Given the description of an element on the screen output the (x, y) to click on. 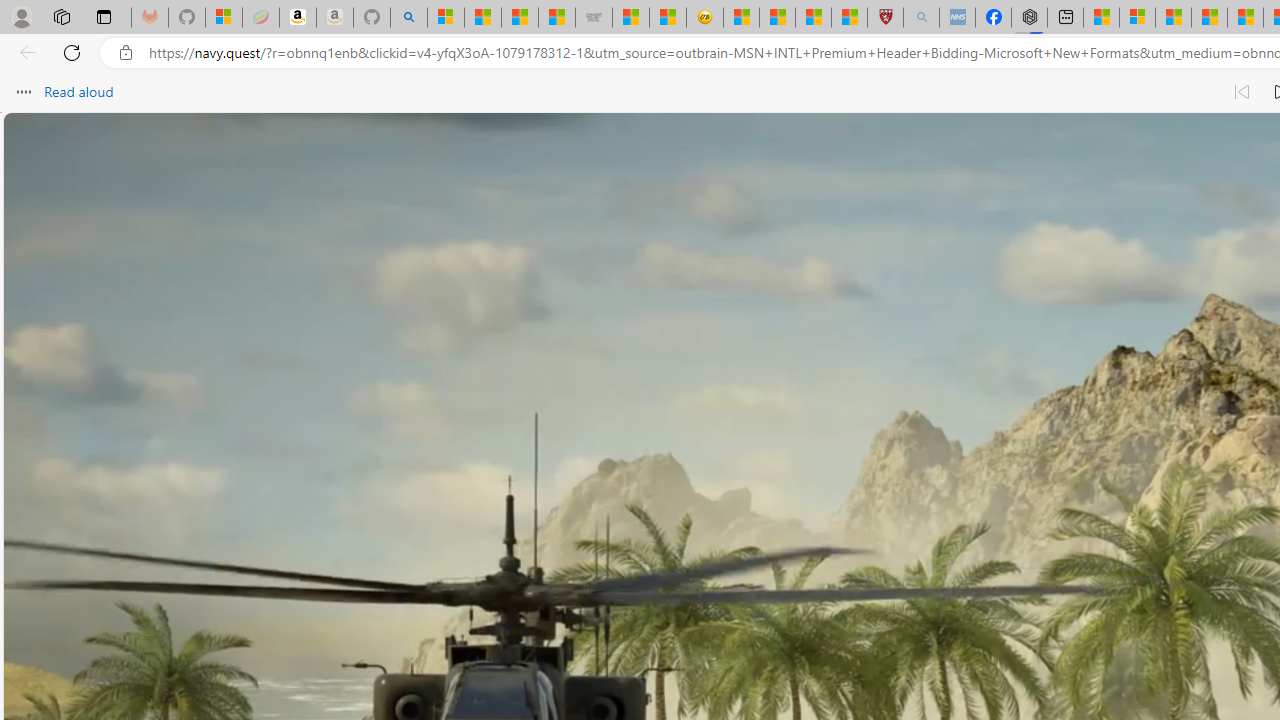
Microsoft account | Privacy (1137, 17)
Science - MSN (813, 17)
Recipes - MSN (741, 17)
14 Common Myths Debunked By Scientific Facts (1245, 17)
MSNBC - MSN (519, 17)
Nordace - Nordace Siena Is Not An Ordinary Backpack (1029, 17)
12 Popular Science Lies that Must be Corrected (849, 17)
